Given the description of an element on the screen output the (x, y) to click on. 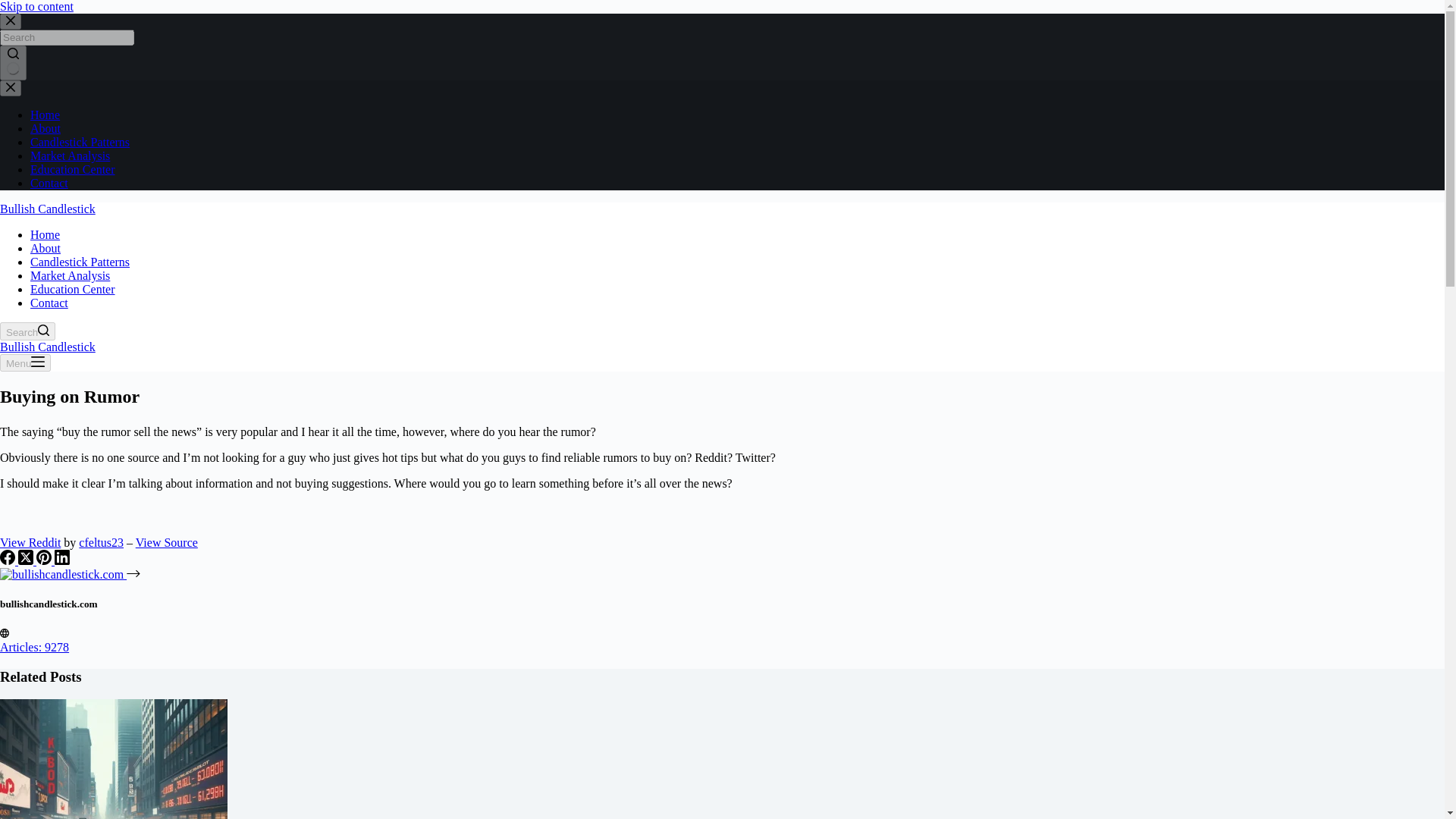
Home (44, 114)
Education Center (72, 169)
Home (44, 234)
Candlestick Patterns (79, 141)
Search for... (66, 37)
About (45, 128)
View Reddit (30, 542)
Education Center (72, 288)
Search (27, 331)
Contact (49, 302)
